Given the description of an element on the screen output the (x, y) to click on. 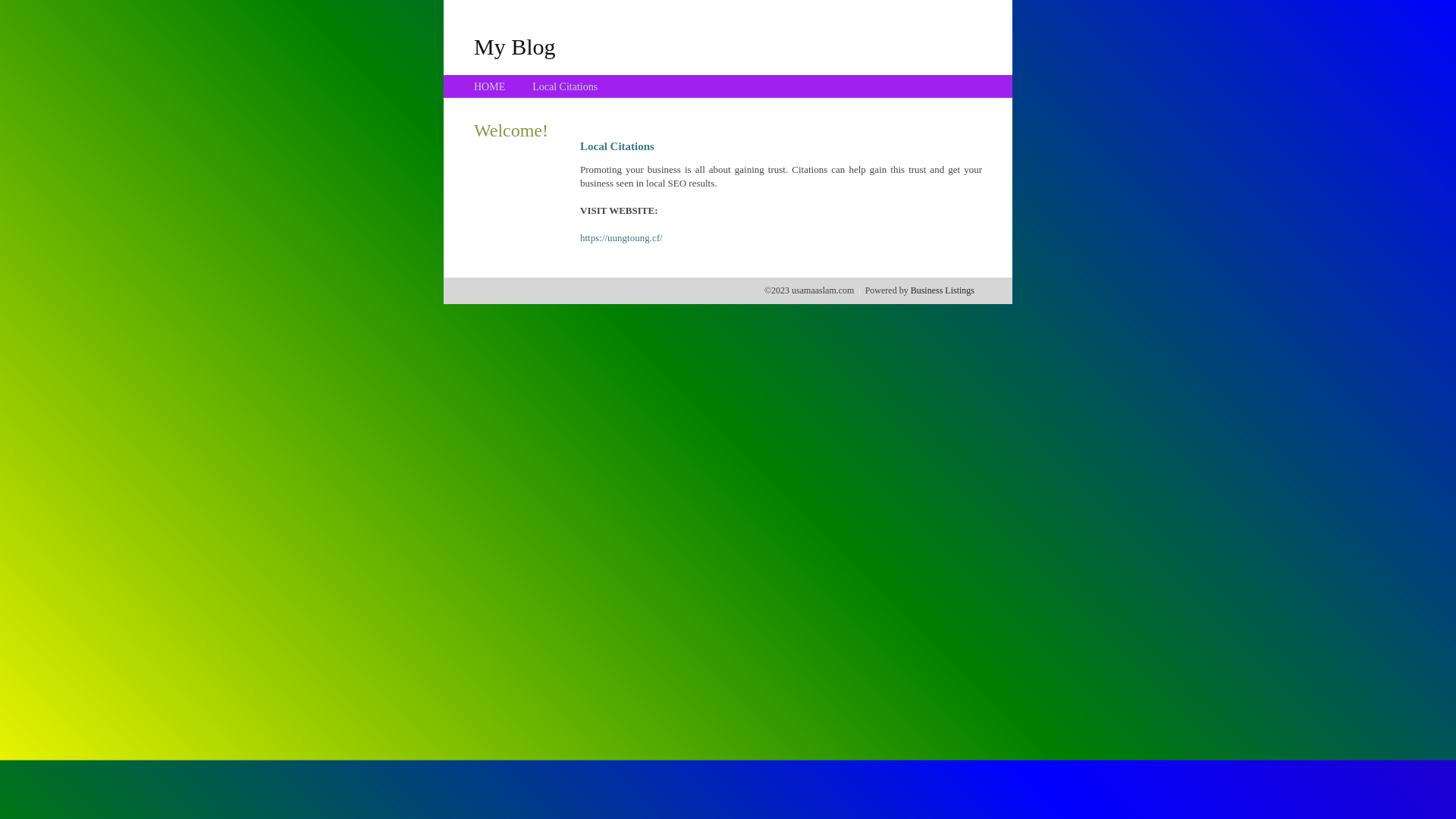
Local Citations Element type: text (564, 86)
Business Listings Element type: text (942, 290)
HOME Element type: text (489, 86)
https://uungtoung.cf/ Element type: text (621, 237)
My Blog Element type: text (514, 46)
